Given the description of an element on the screen output the (x, y) to click on. 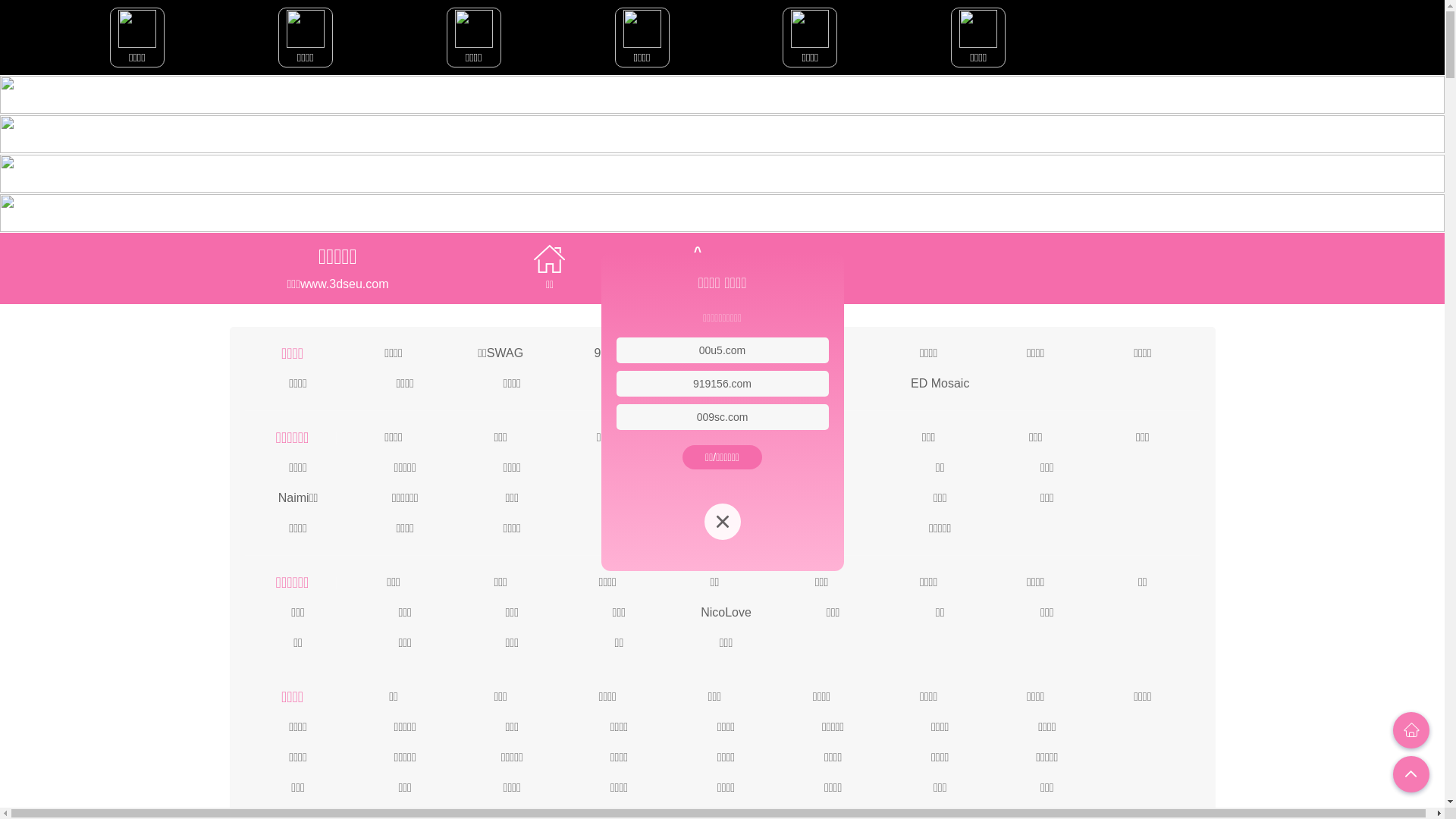
ED Mosaic Element type: text (939, 382)
JVID Element type: text (821, 351)
919156.com Element type: text (722, 383)
00u5.com Element type: text (722, 350)
NicoLove Element type: text (725, 611)
009sc.com Element type: text (722, 417)
